Given the description of an element on the screen output the (x, y) to click on. 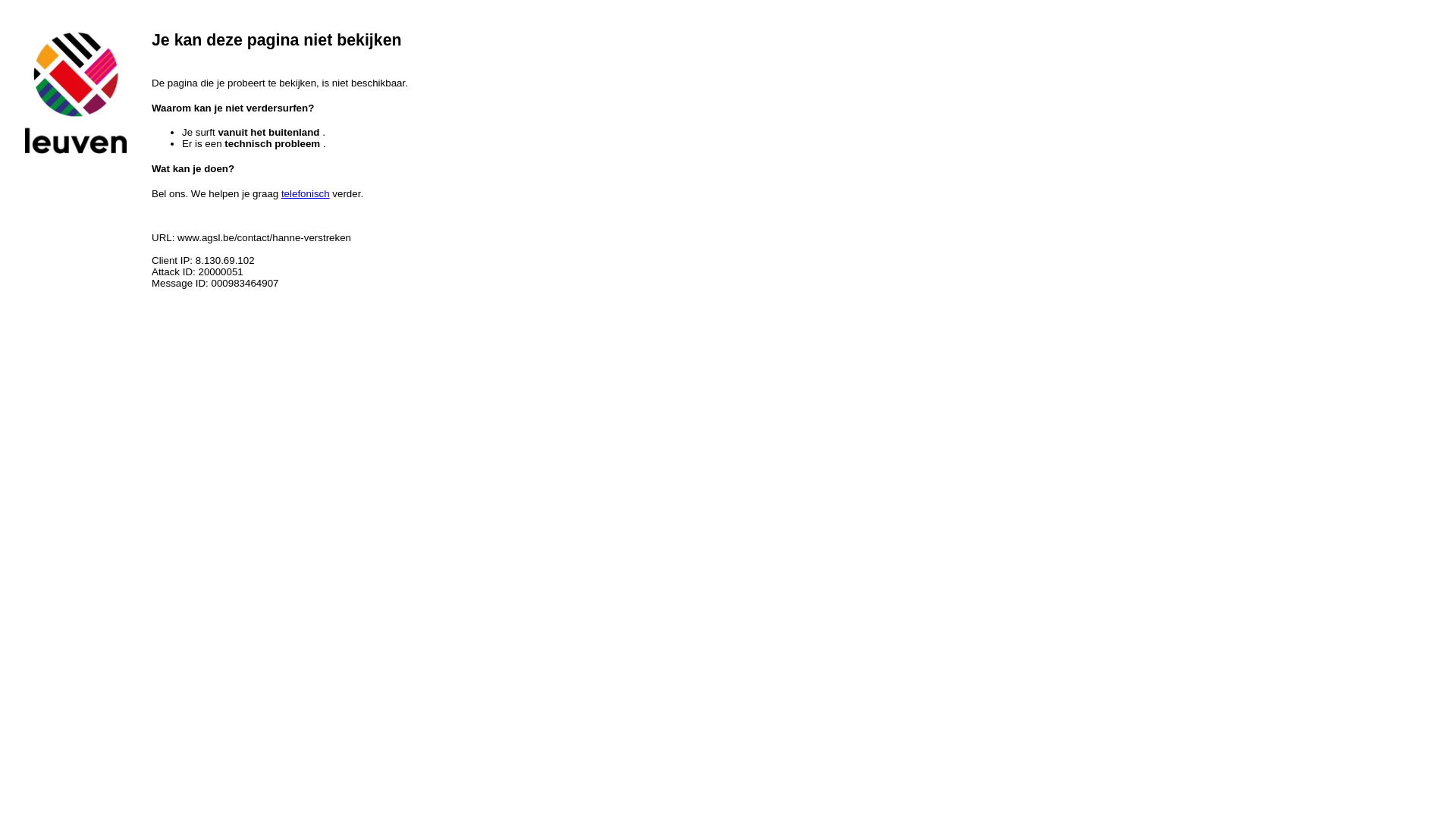
telefonisch Element type: text (305, 193)
